Given the description of an element on the screen output the (x, y) to click on. 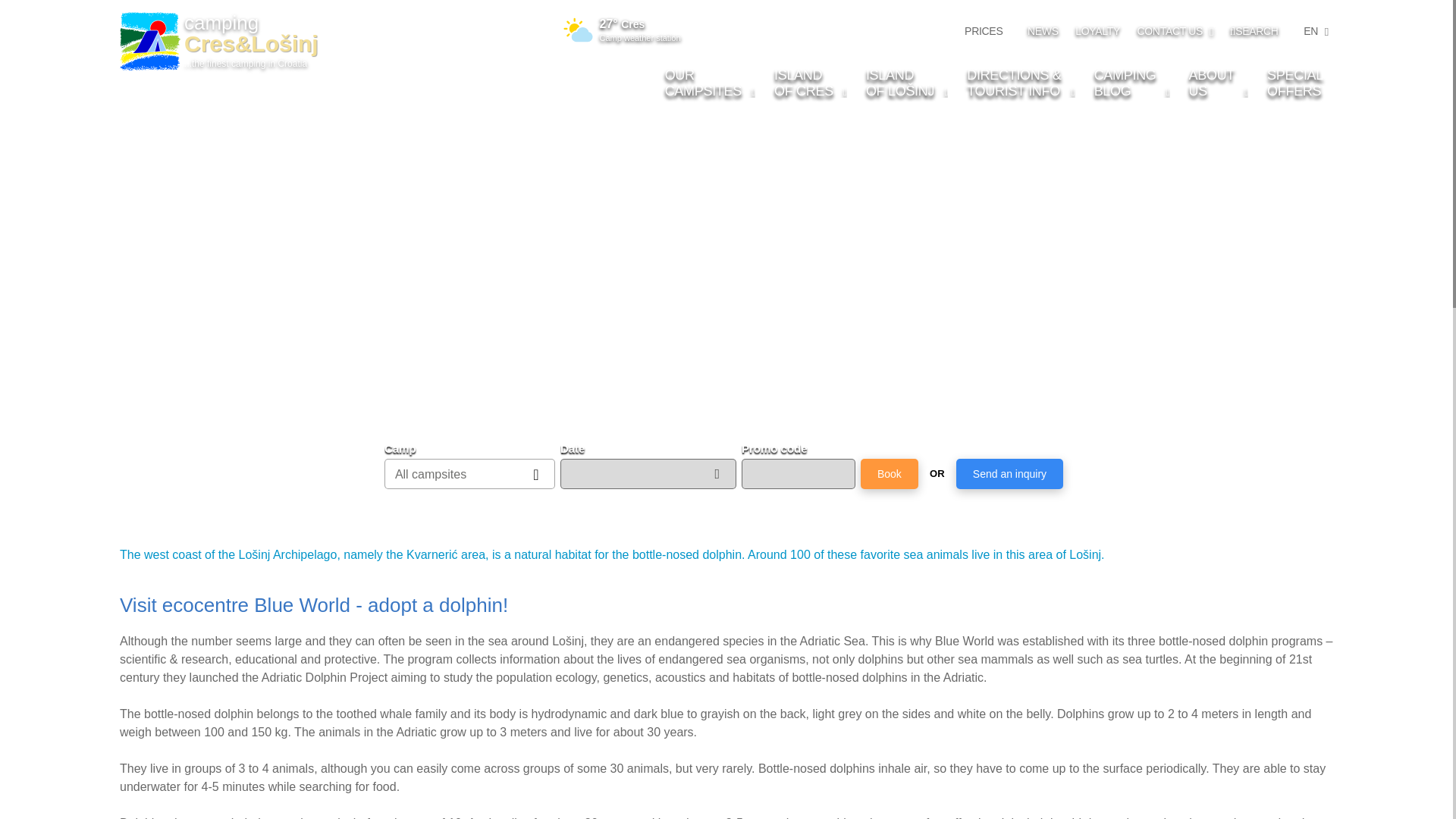
LOYALTY (710, 83)
NEWS (1097, 30)
Our Campsites (1042, 30)
CONTACT US (710, 83)
PRICES (1174, 30)
EN (810, 83)
SEARCH (983, 30)
Island of Cres (1314, 30)
Jadranka turizam (1254, 30)
